Given the description of an element on the screen output the (x, y) to click on. 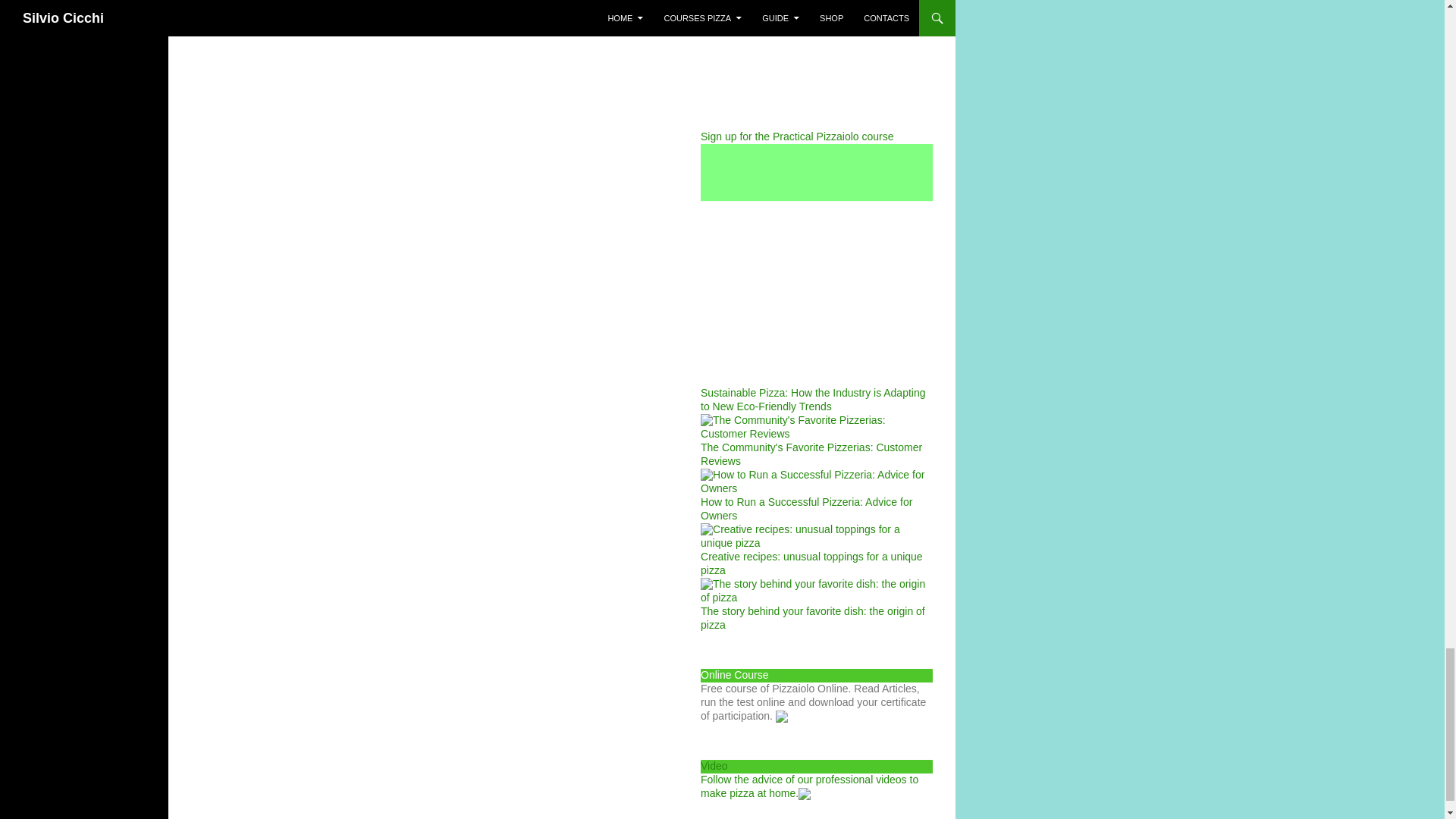
Creative recipes: unusual toppings for a unique pizza (816, 552)
The story behind your favorite dish: the origin of pizza (816, 607)
Sign up for the Practical Pizzaiolo course (816, 71)
The Community's Favorite Pizzerias: Customer Reviews (816, 443)
How to Run a Successful Pizzeria: Advice for Owners (816, 498)
